Given the description of an element on the screen output the (x, y) to click on. 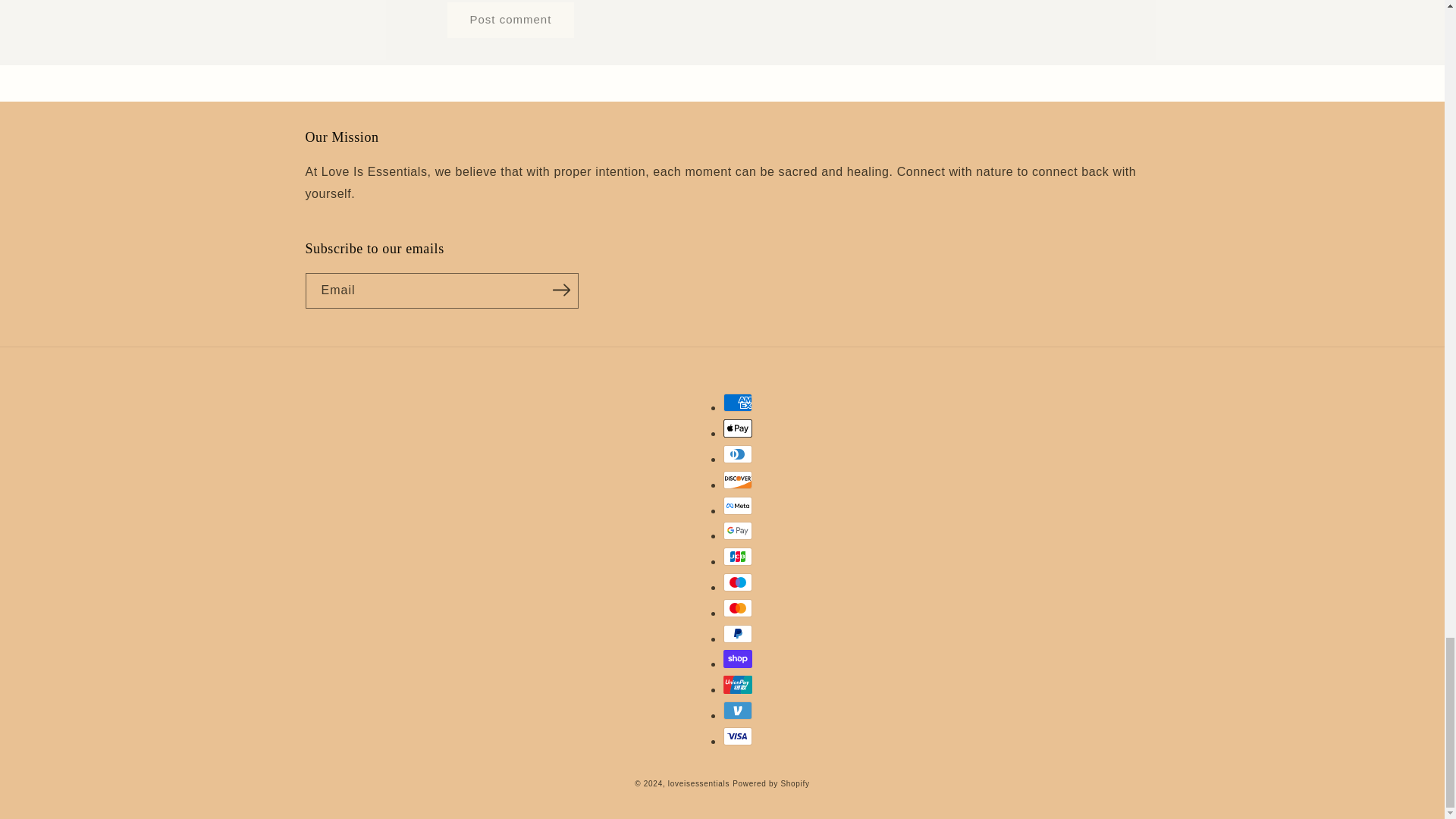
loveisessentials (698, 783)
JCB (737, 556)
Venmo (737, 710)
Meta Pay (737, 505)
Maestro (737, 582)
Post comment (510, 19)
Mastercard (737, 607)
Diners Club (737, 454)
American Express (737, 402)
Discover (737, 479)
